Given the description of an element on the screen output the (x, y) to click on. 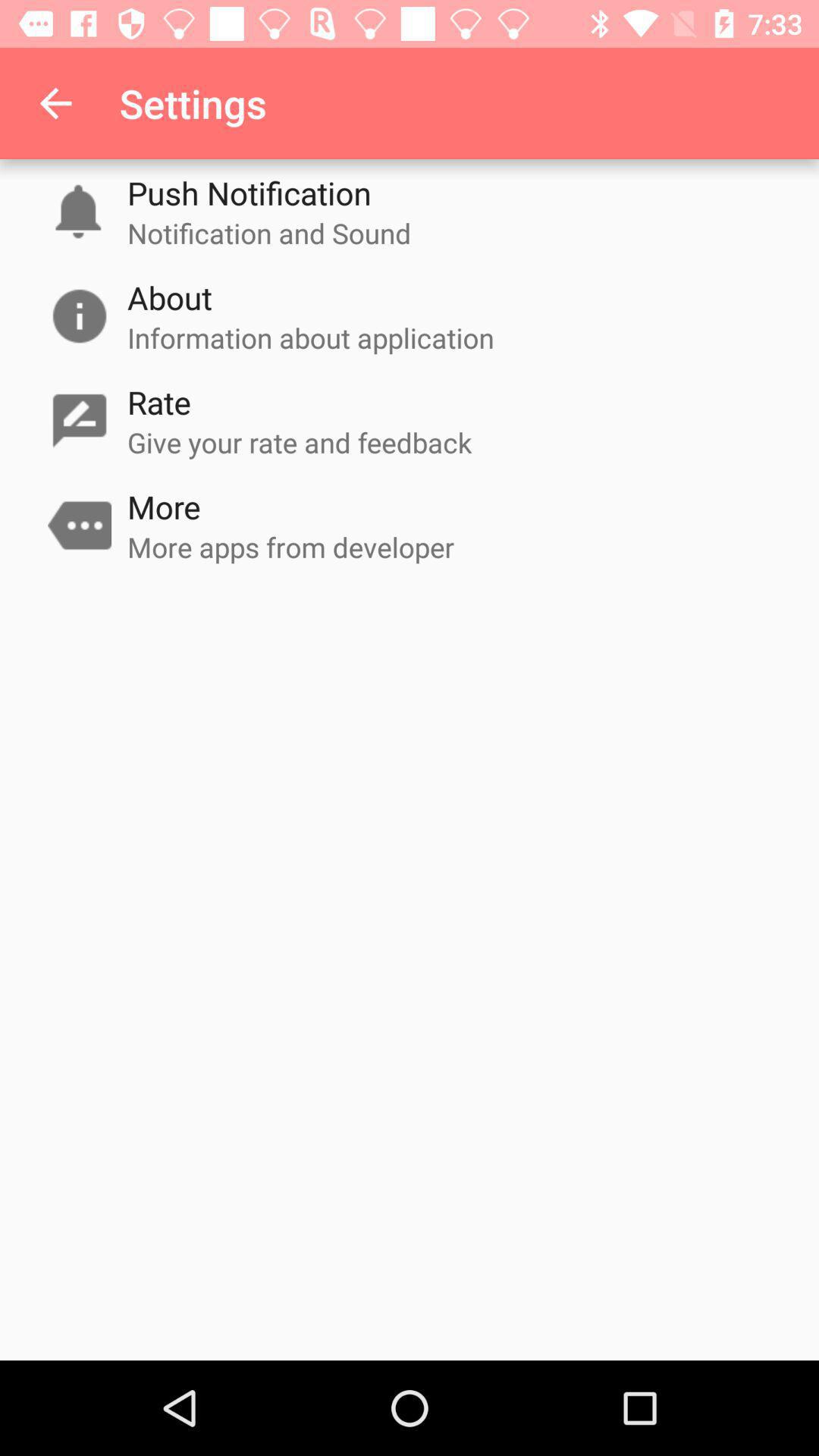
click push notification (249, 192)
